Given the description of an element on the screen output the (x, y) to click on. 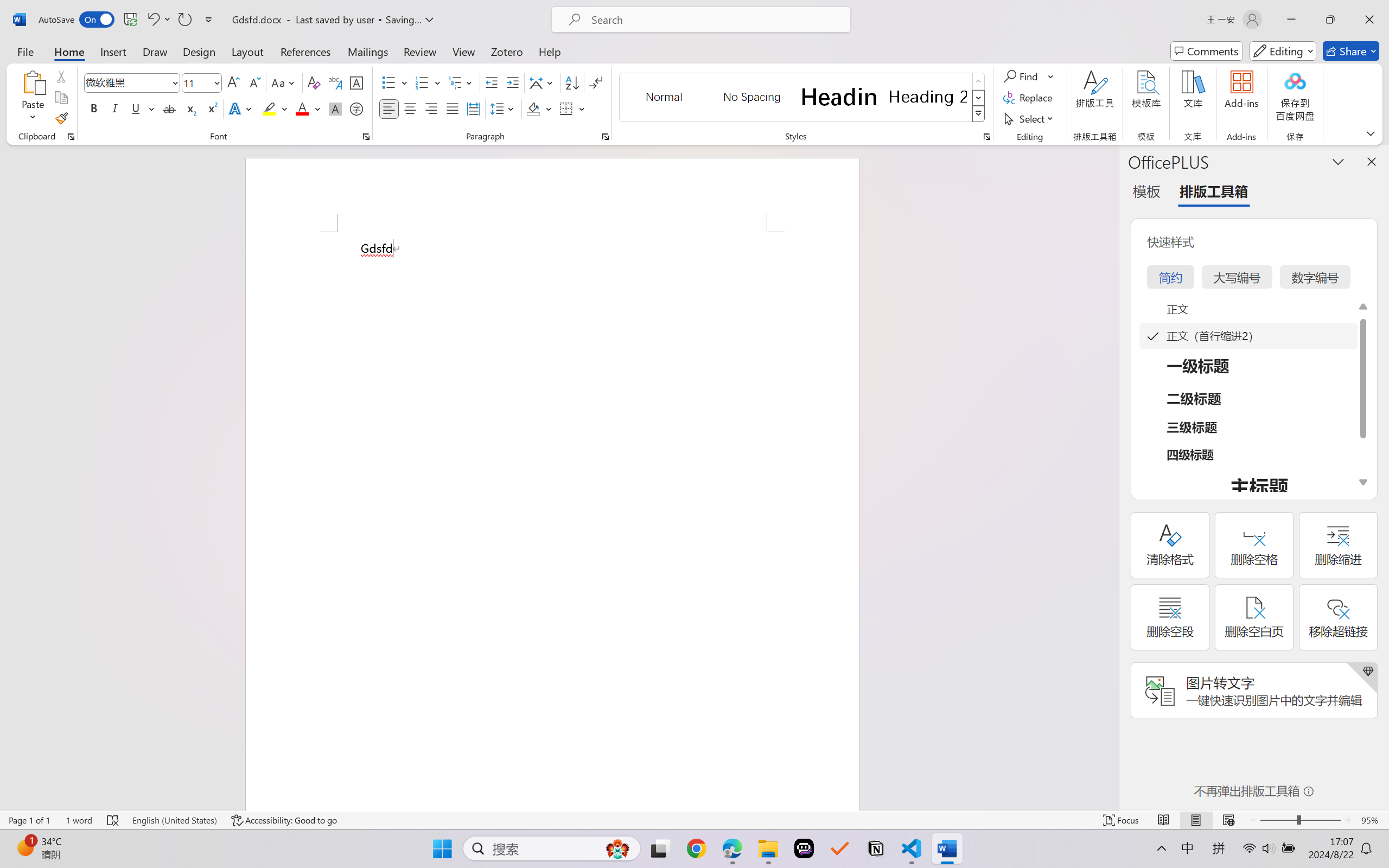
Page 1 content (552, 521)
